Given the description of an element on the screen output the (x, y) to click on. 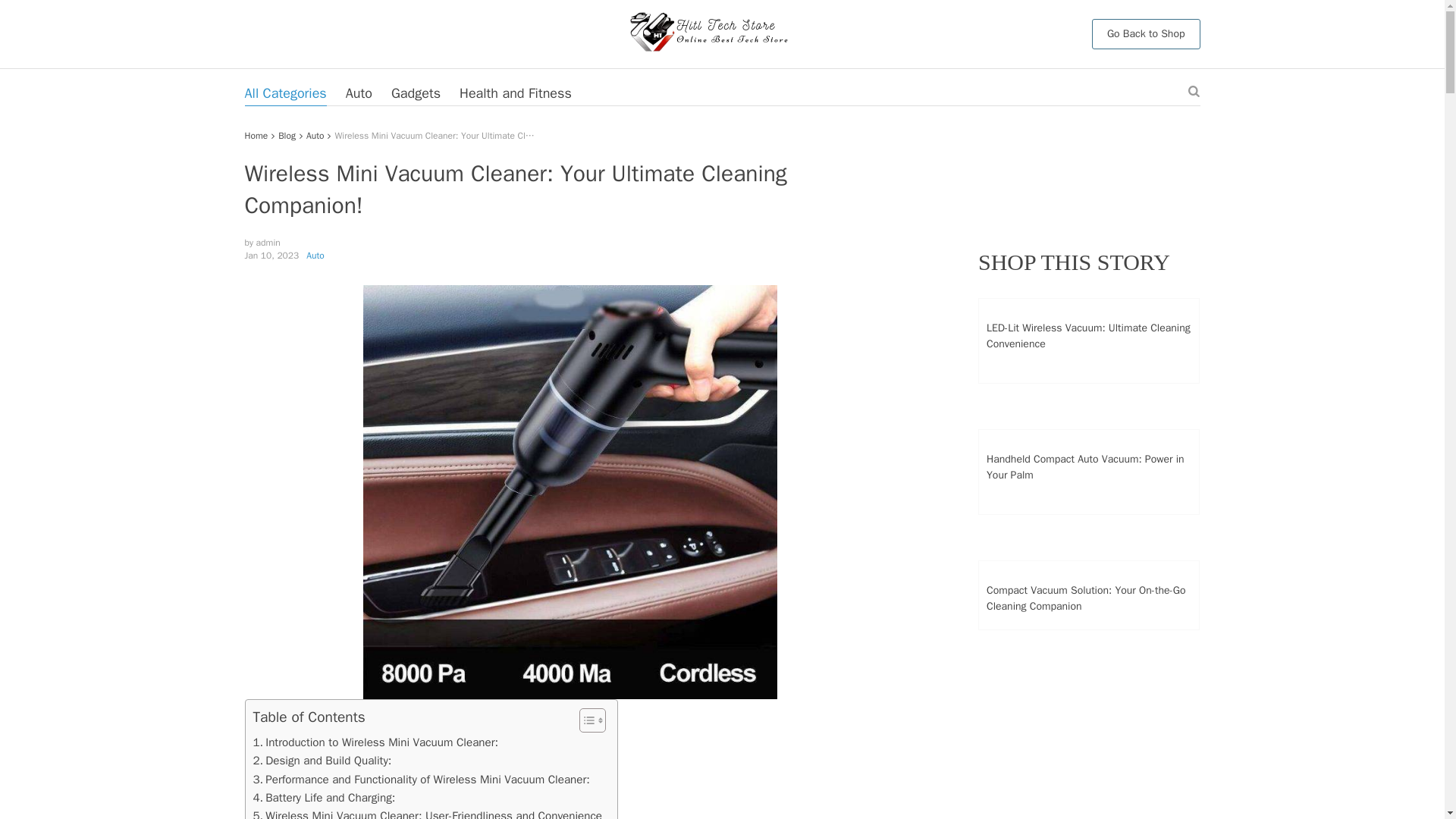
Blog (286, 135)
Auto (314, 135)
All Categories (285, 93)
Home (255, 135)
Go Back to Shop (1145, 33)
Design and Build Quality: (322, 760)
Design and Build Quality: (322, 760)
Health and Fitness (516, 93)
Battery Life and Charging: (324, 797)
